Given the description of an element on the screen output the (x, y) to click on. 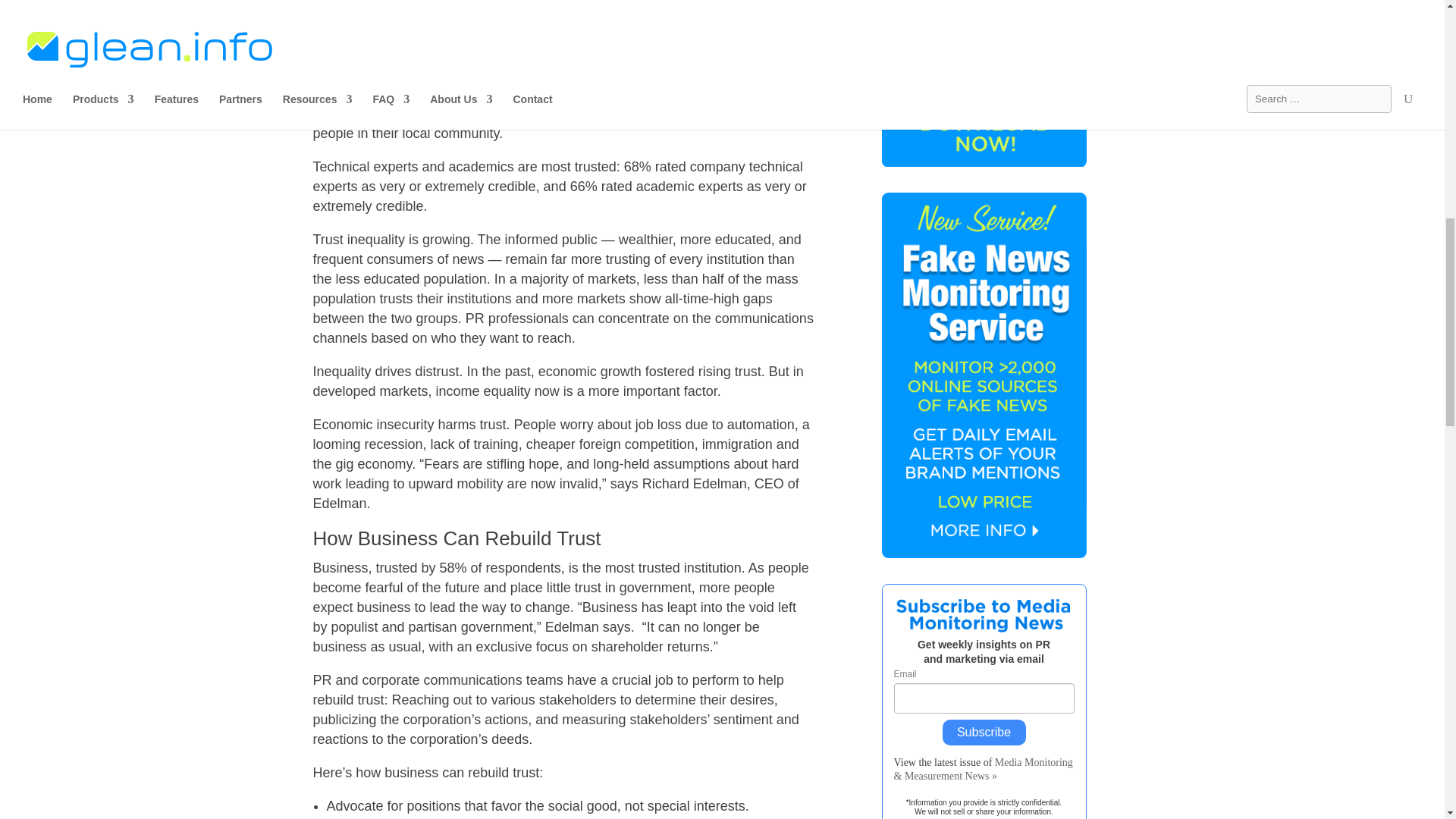
Subscribe (983, 732)
